Given the description of an element on the screen output the (x, y) to click on. 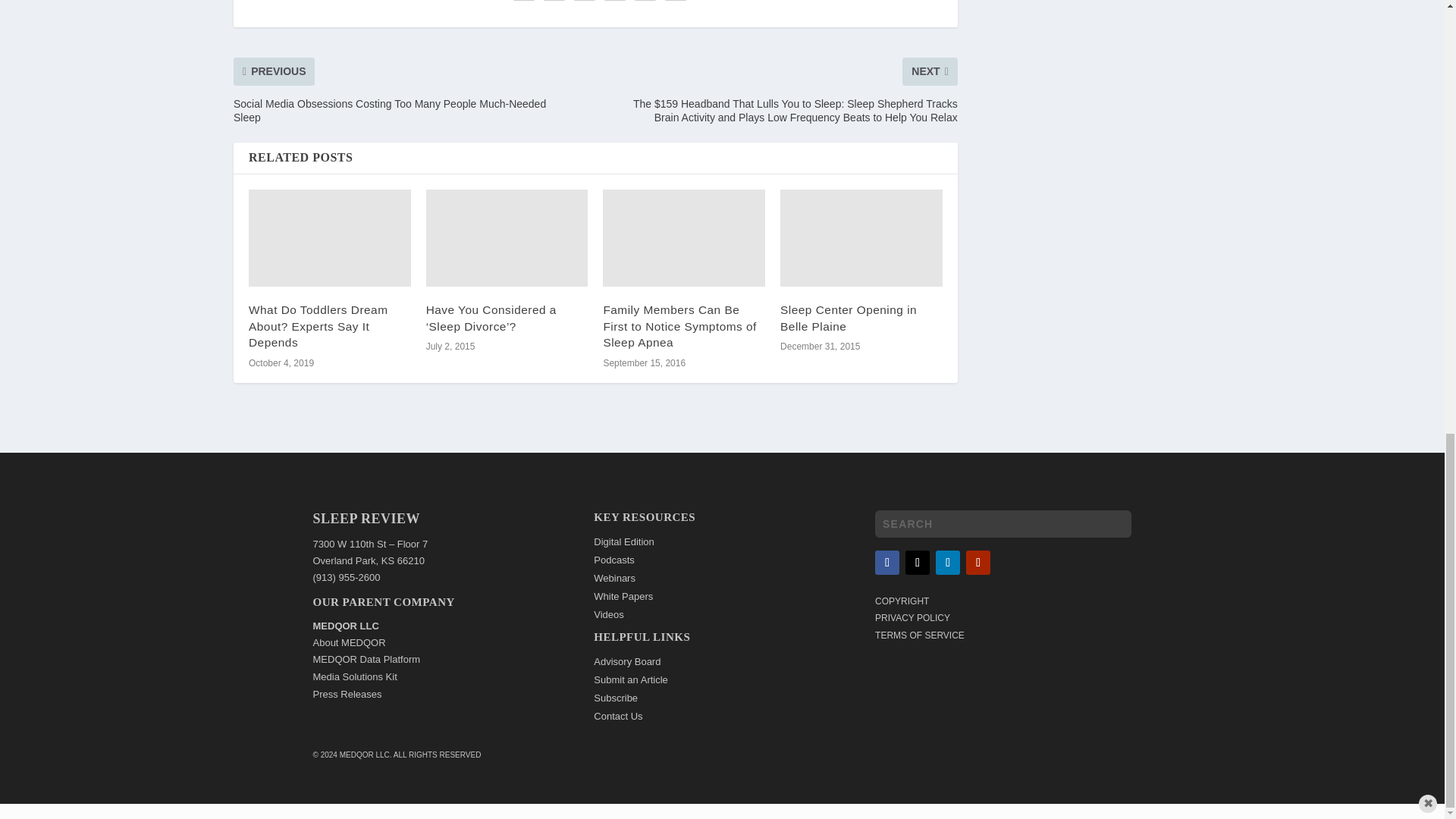
Follow on Facebook (887, 562)
Sleep Center Opening in Belle Plaine (861, 237)
What Do Toddlers Dream About? Experts Say It Depends (329, 237)
